Given the description of an element on the screen output the (x, y) to click on. 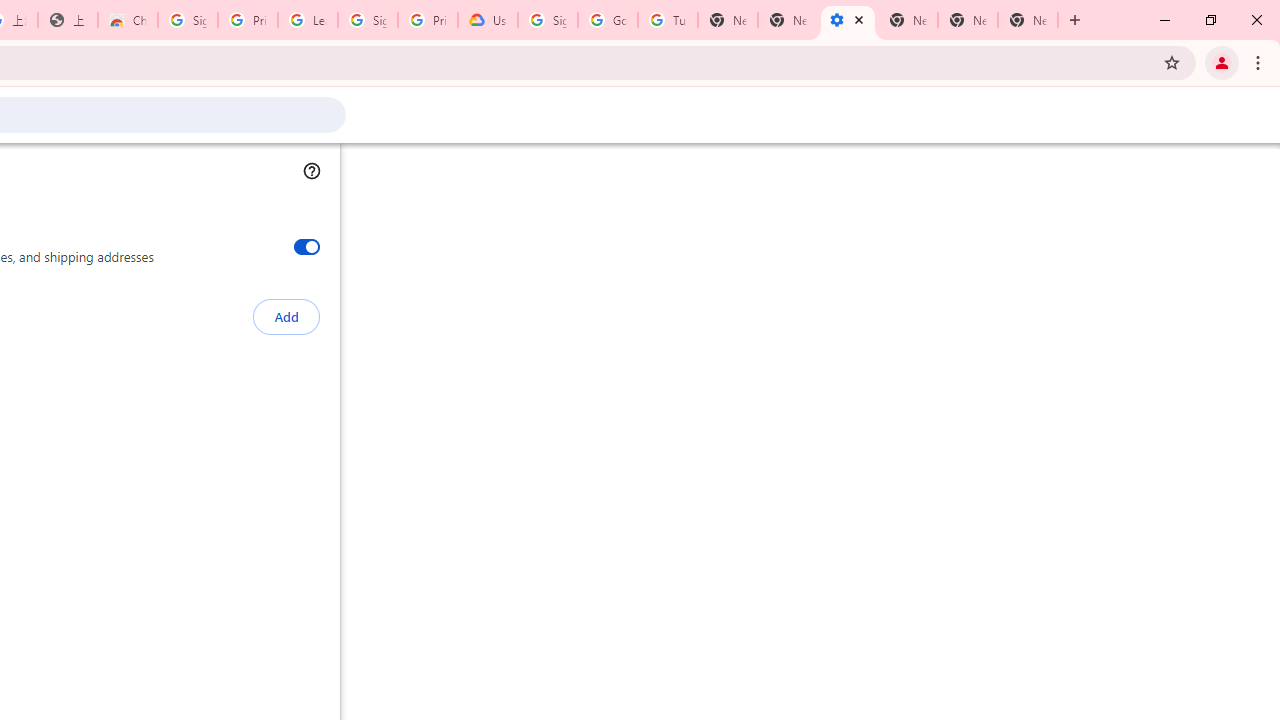
Sign in - Google Accounts (367, 20)
New Tab (908, 20)
